Given the description of an element on the screen output the (x, y) to click on. 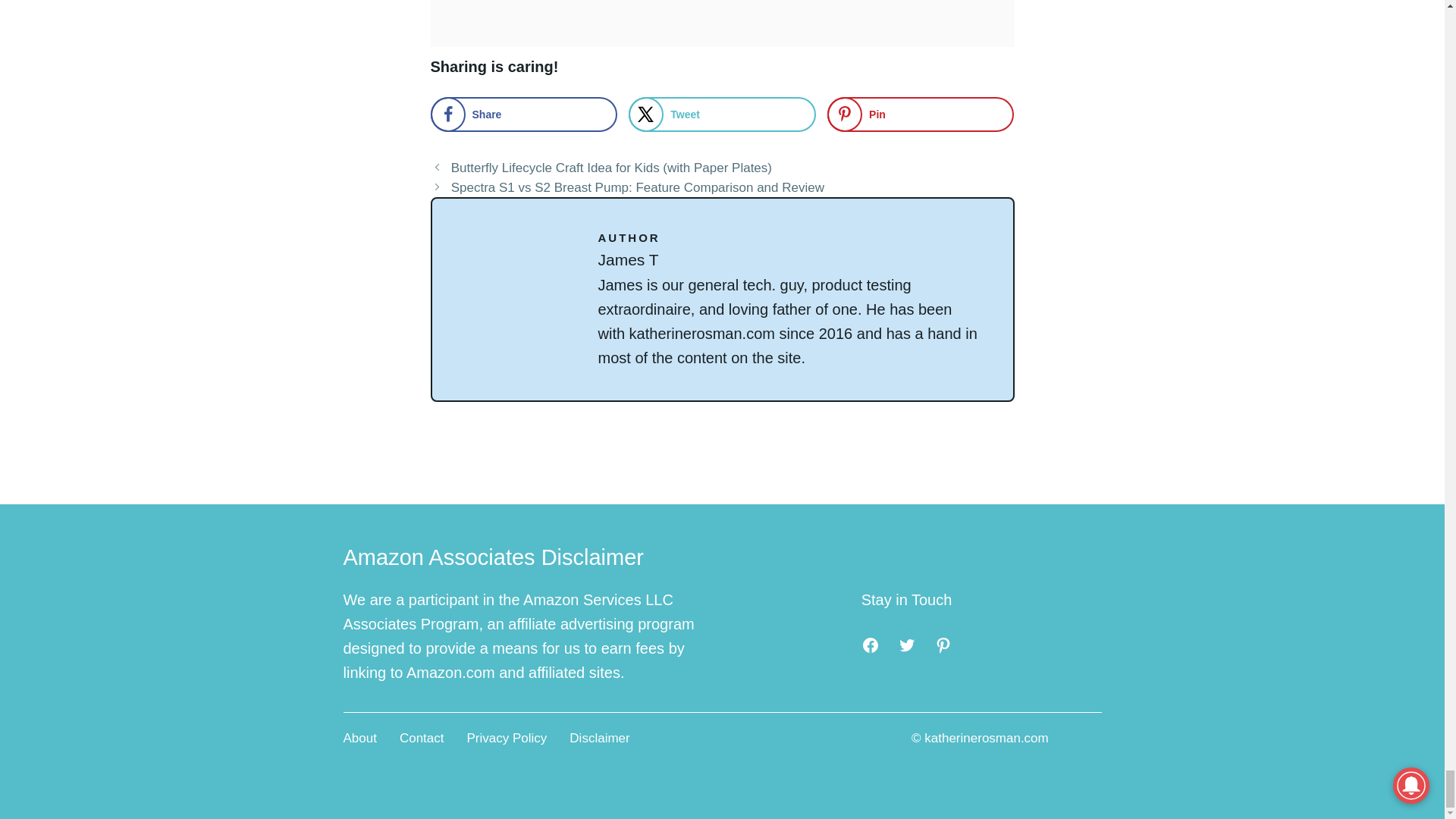
Save to Pinterest (920, 114)
Share on Facebook (523, 114)
Previous (611, 167)
Next (637, 187)
Share on X (721, 114)
